Given the description of an element on the screen output the (x, y) to click on. 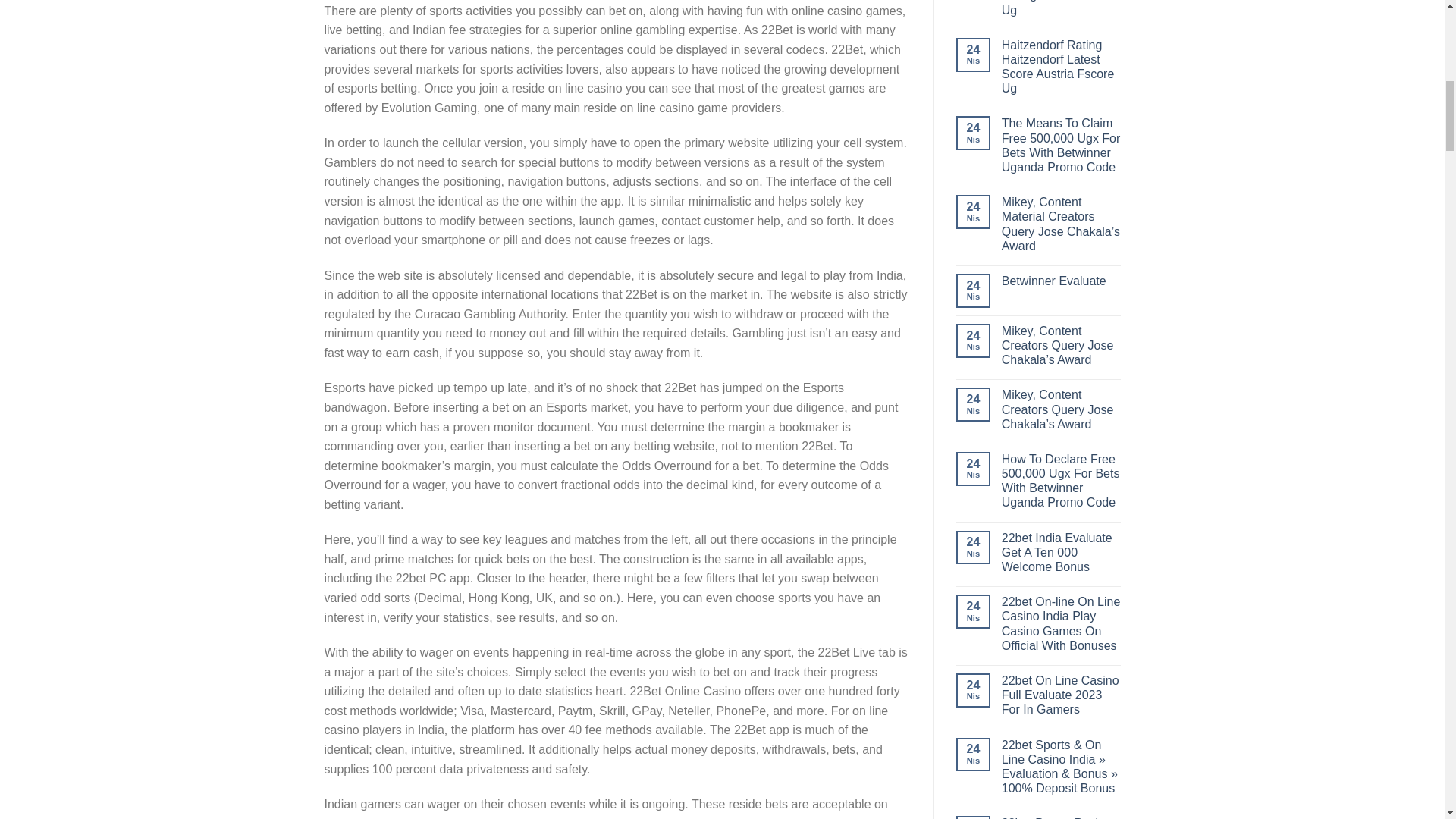
22bet India Evaluate Get A Ten 000 Welcome Bonus (1061, 552)
Betwinner Evaluate (1061, 280)
